Given the description of an element on the screen output the (x, y) to click on. 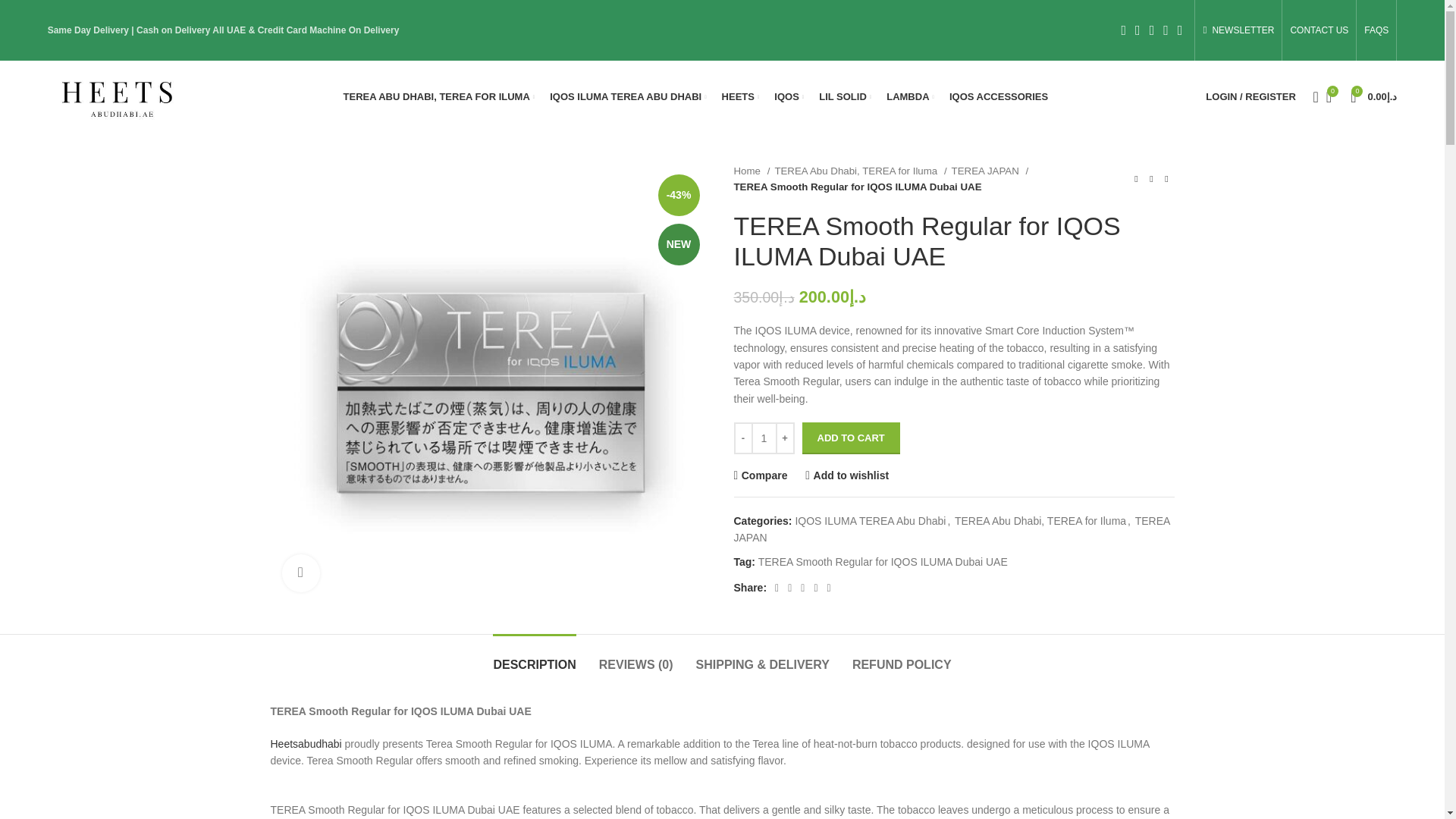
Search (1311, 96)
IQOS ACCESSORIES (998, 96)
FAQS (1376, 30)
NEWSLETTER (1238, 30)
IQOS ILUMA TEREA ABU DHABI (628, 96)
1 (763, 438)
Shopping cart (1373, 96)
IQOS (788, 96)
TEREA ABU DHABI, TEREA FOR ILUMA (439, 96)
0 (1329, 96)
HEETS (741, 96)
LAMBDA (910, 96)
- (742, 438)
